Given the description of an element on the screen output the (x, y) to click on. 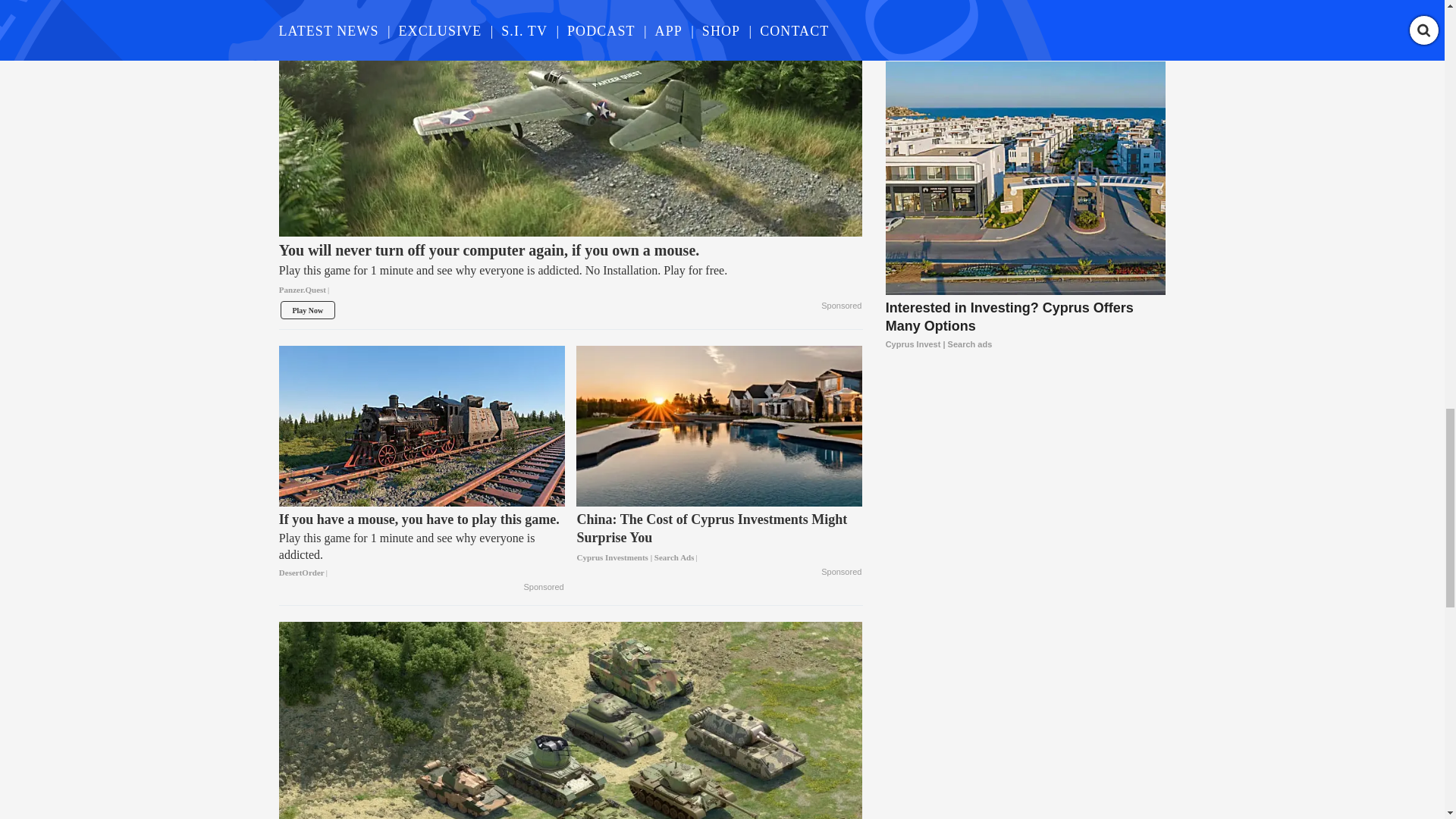
Sponsored (841, 306)
Play Now (307, 310)
Sponsored (544, 587)
Sponsored (841, 572)
